Given the description of an element on the screen output the (x, y) to click on. 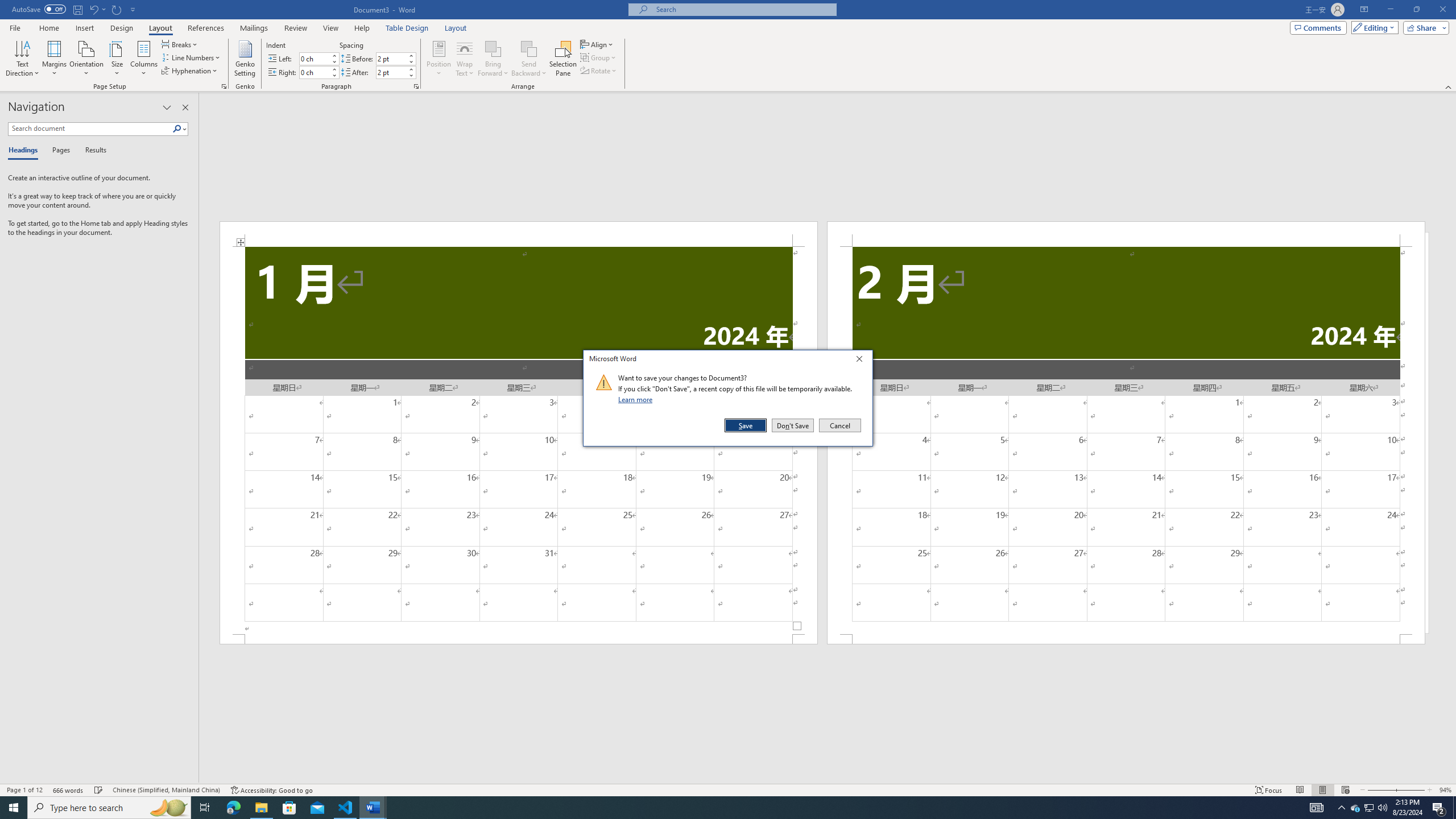
Spacing Before (391, 58)
Show desktop (1454, 807)
Start (13, 807)
Spelling and Grammar Check Checking (98, 790)
Bring Forward (492, 58)
